Given the description of an element on the screen output the (x, y) to click on. 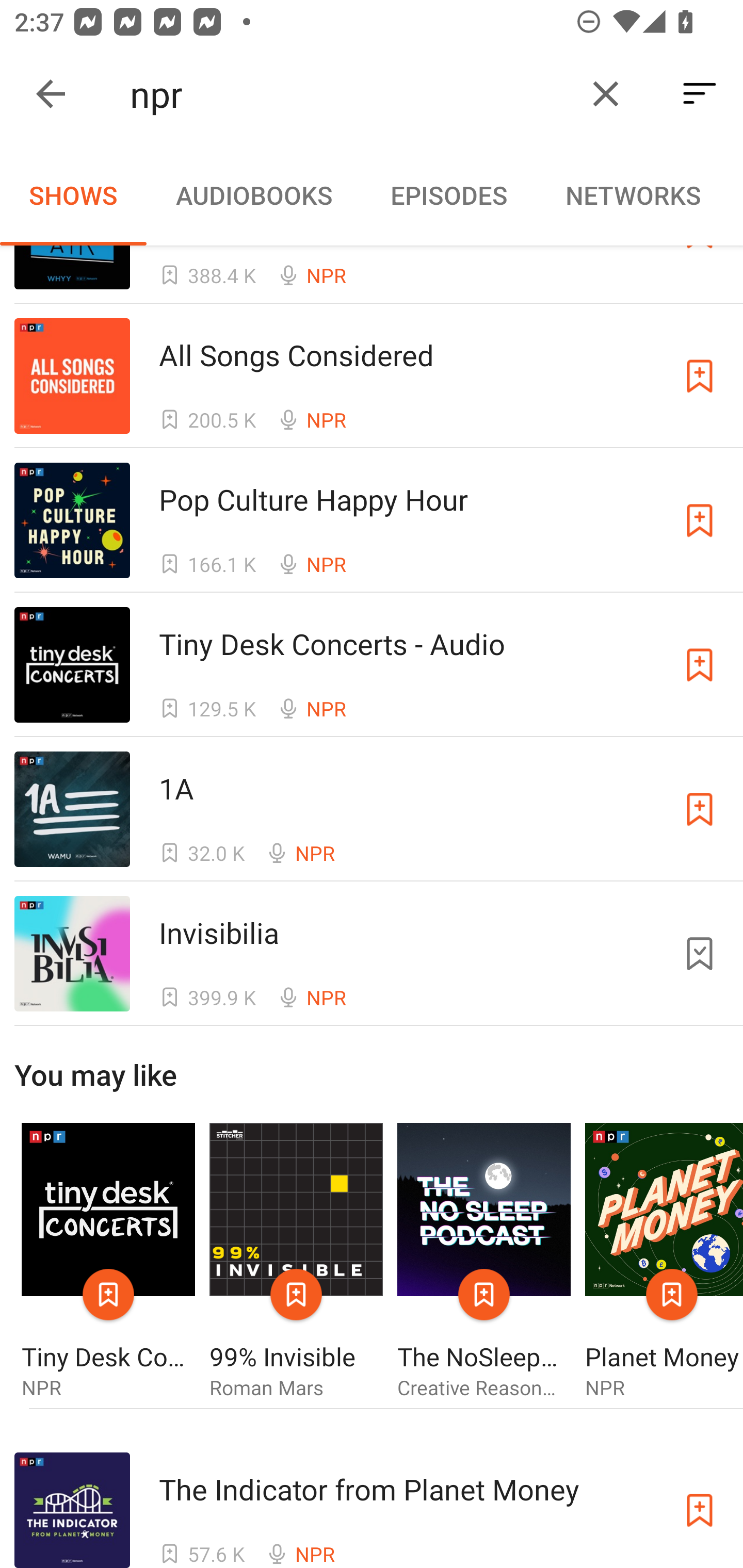
Collapse (50, 93)
Clear query (605, 93)
Sort By (699, 93)
npr (349, 94)
SHOWS (73, 195)
AUDIOBOOKS (253, 195)
EPISODES (448, 195)
NETWORKS (632, 195)
Subscribe (699, 376)
Subscribe (699, 520)
Subscribe (699, 664)
1A 1A  32.0 K  NPR Subscribe (371, 808)
Subscribe (699, 809)
Unsubscribe (699, 953)
Tiny Desk Concerts - Audio NPR (107, 1261)
99% Invisible Roman Mars (295, 1261)
The NoSleep Podcast Creative Reason Media Inc. (483, 1261)
Planet Money NPR (664, 1261)
Subscribe (699, 1509)
